Given the description of an element on the screen output the (x, y) to click on. 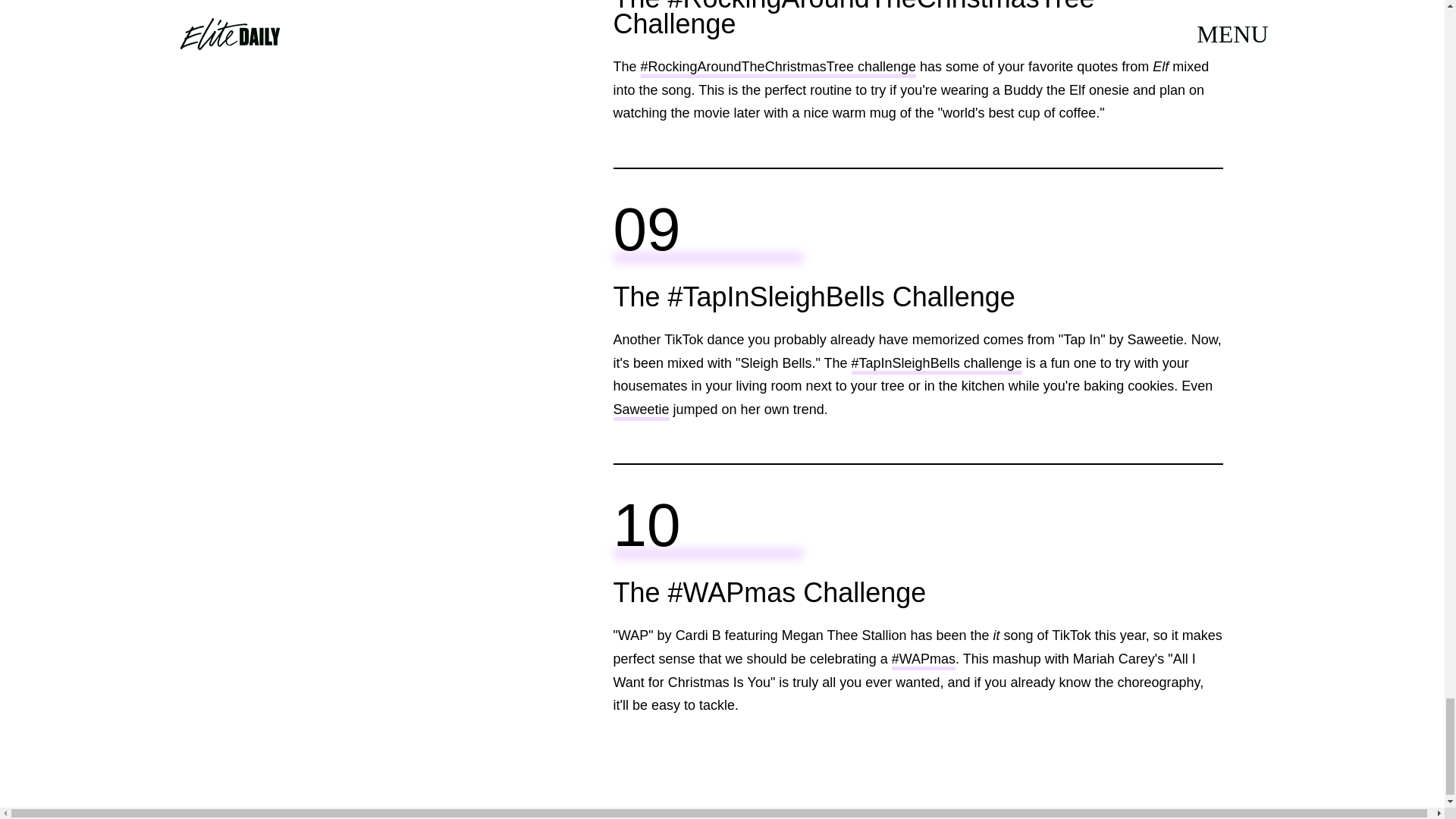
Saweetie (640, 411)
